Given the description of an element on the screen output the (x, y) to click on. 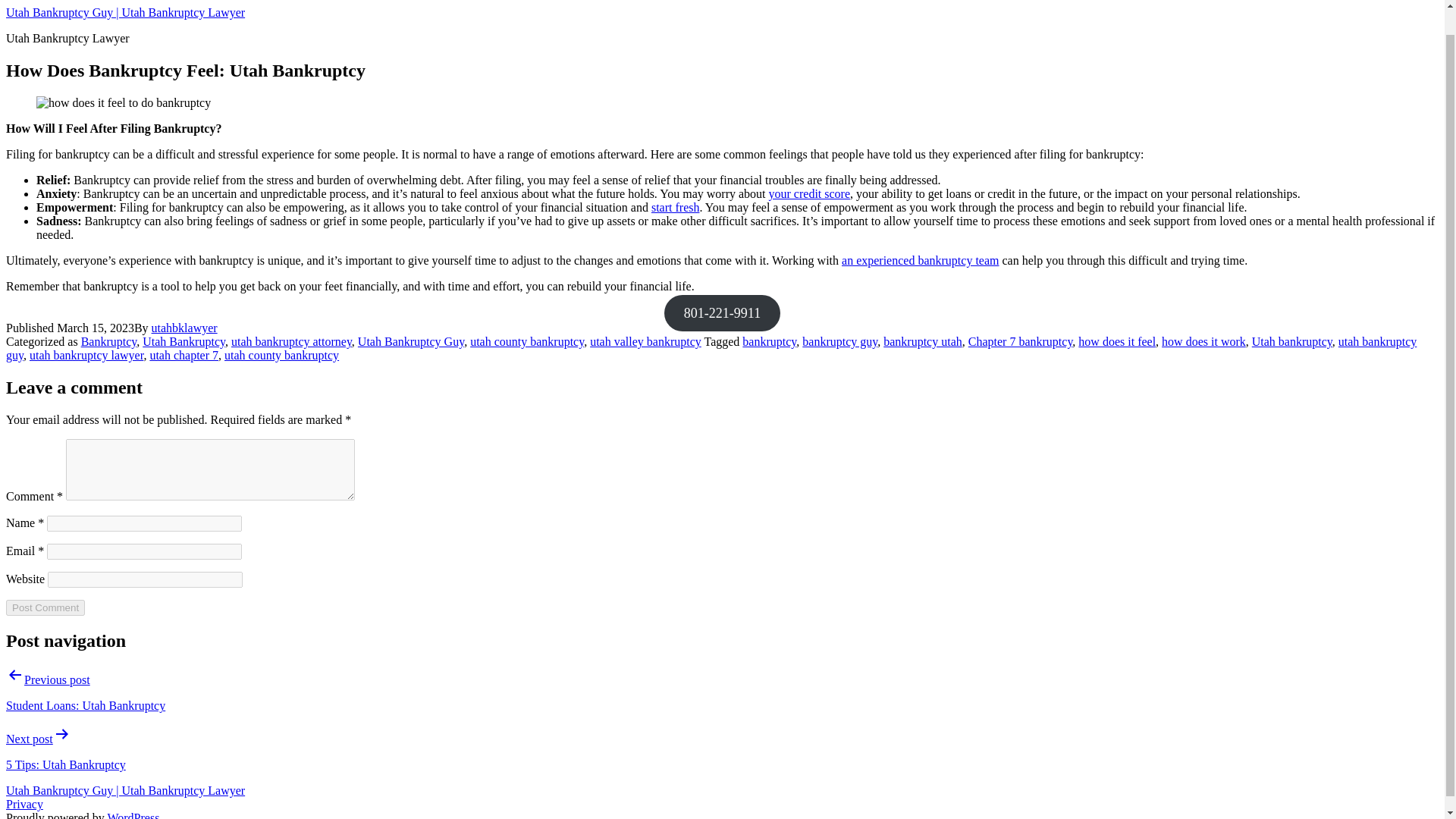
utah bankruptcy guy (710, 347)
how does it feel (1117, 341)
your credit score (809, 193)
bankruptcy (769, 341)
Chapter 7 bankruptcy (1020, 341)
Bankruptcy (108, 341)
utahbklawyer (183, 327)
Post Comment (44, 607)
utah county bankruptcy (281, 354)
Privacy (24, 803)
Utah bankruptcy (1292, 341)
Utah Bankruptcy (183, 341)
Post Comment (44, 607)
utah bankruptcy lawyer (85, 354)
utah county bankruptcy (526, 341)
